Given the description of an element on the screen output the (x, y) to click on. 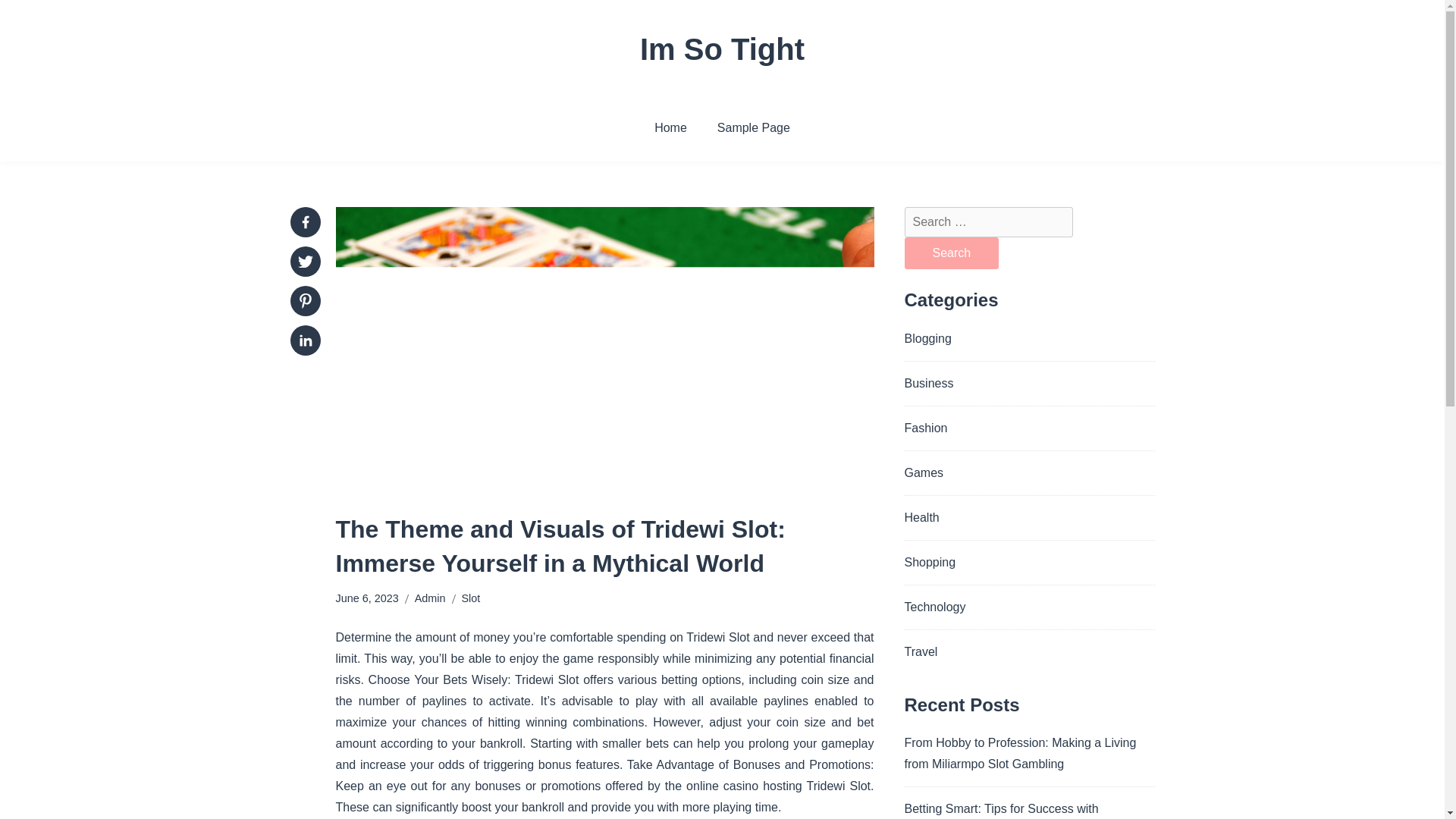
Search (951, 253)
Shopping (929, 561)
Admin (429, 598)
Blogging (927, 338)
Technology (934, 606)
Games (923, 472)
Betting Smart: Tips for Success with Miliarslot77 Gacor Slot (1000, 810)
June 6, 2023 (365, 598)
Search (951, 253)
